Given the description of an element on the screen output the (x, y) to click on. 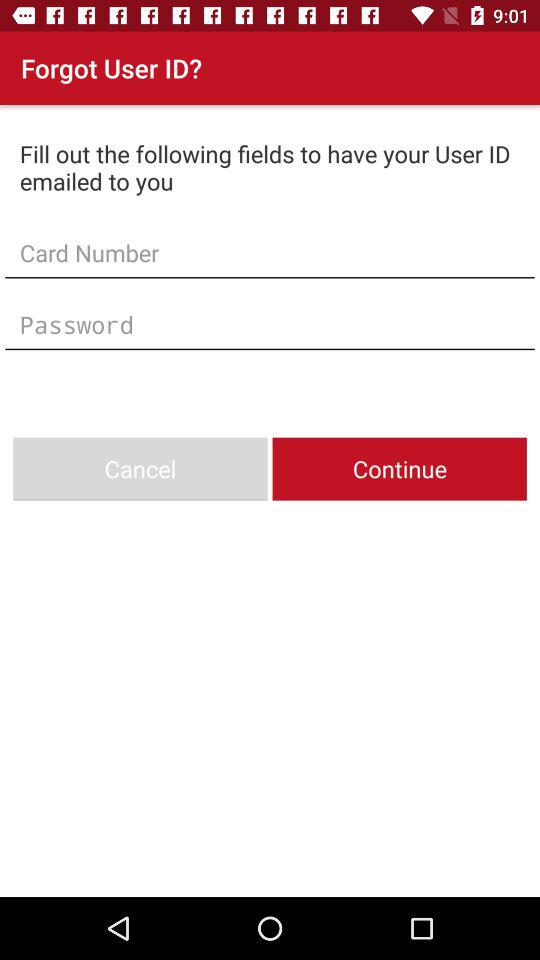
click cancel item (140, 468)
